Given the description of an element on the screen output the (x, y) to click on. 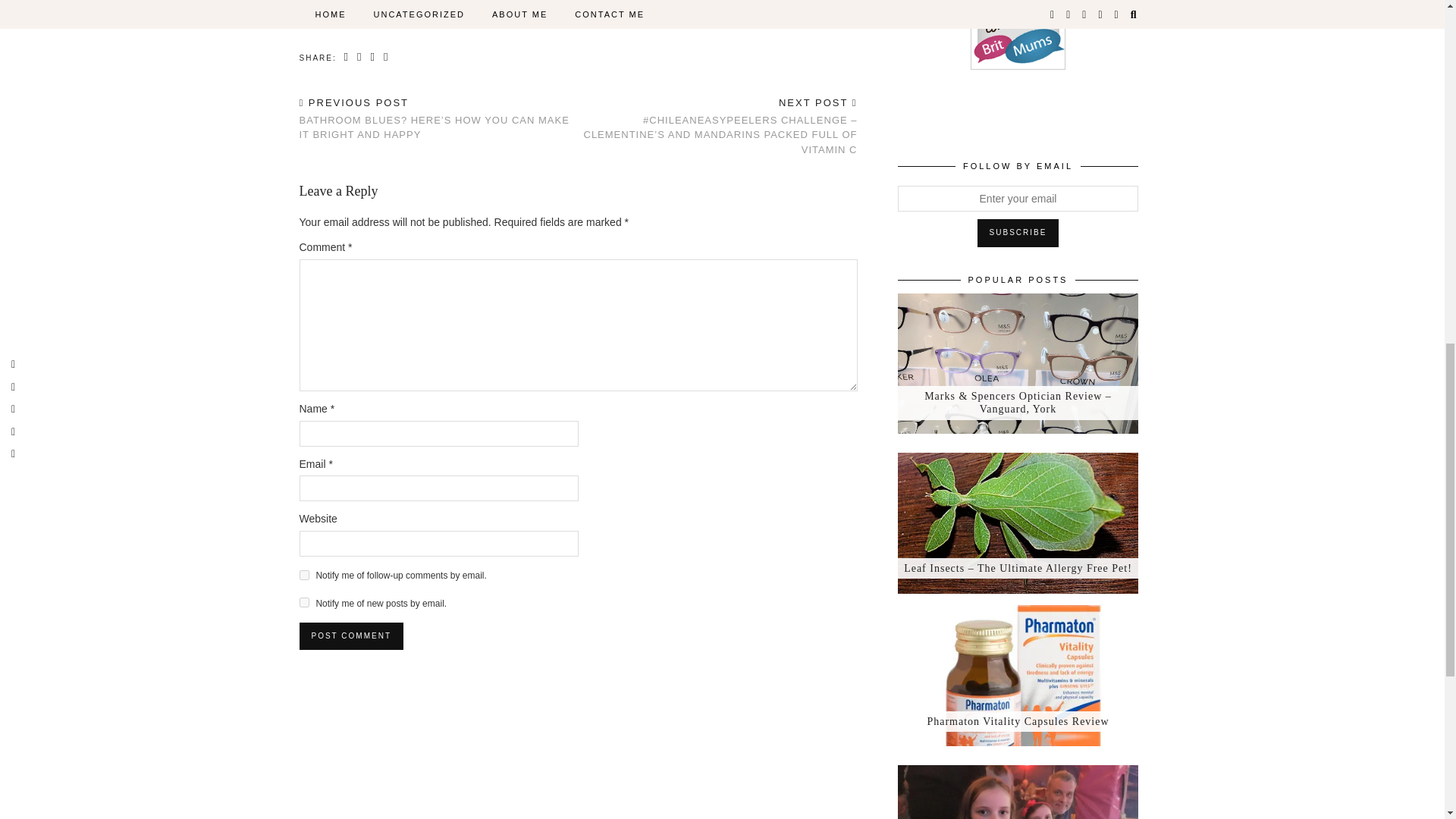
subscribe (303, 574)
Subscribe (1017, 232)
subscribe (303, 602)
Post Comment (350, 636)
